Given the description of an element on the screen output the (x, y) to click on. 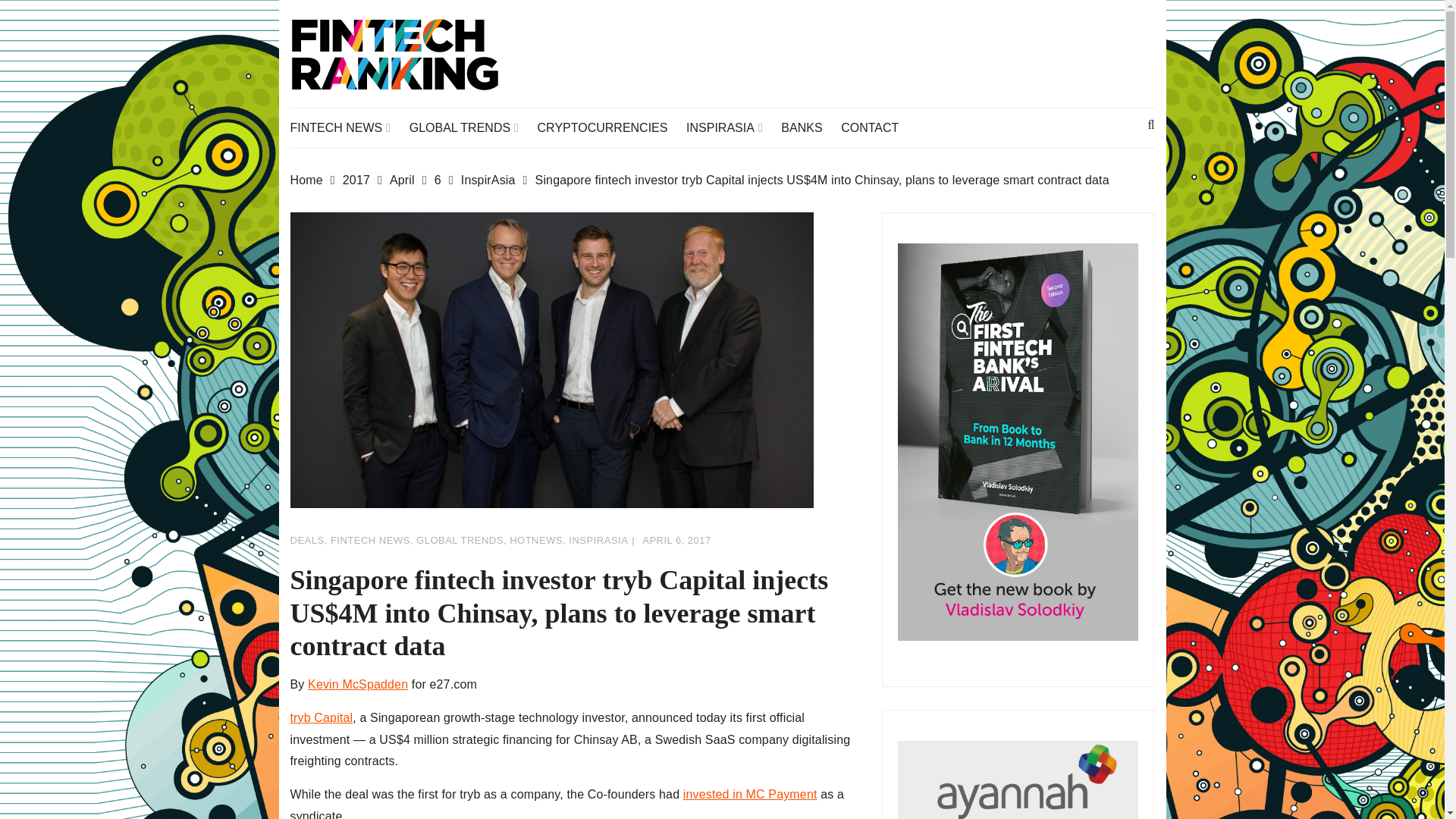
BANKS (808, 128)
FINTECH NEWS (347, 128)
INSPIRASIA (731, 128)
GLOBAL TRENDS (471, 128)
CRYPTOCURRENCIES (609, 128)
CONTACT (877, 128)
